Given the description of an element on the screen output the (x, y) to click on. 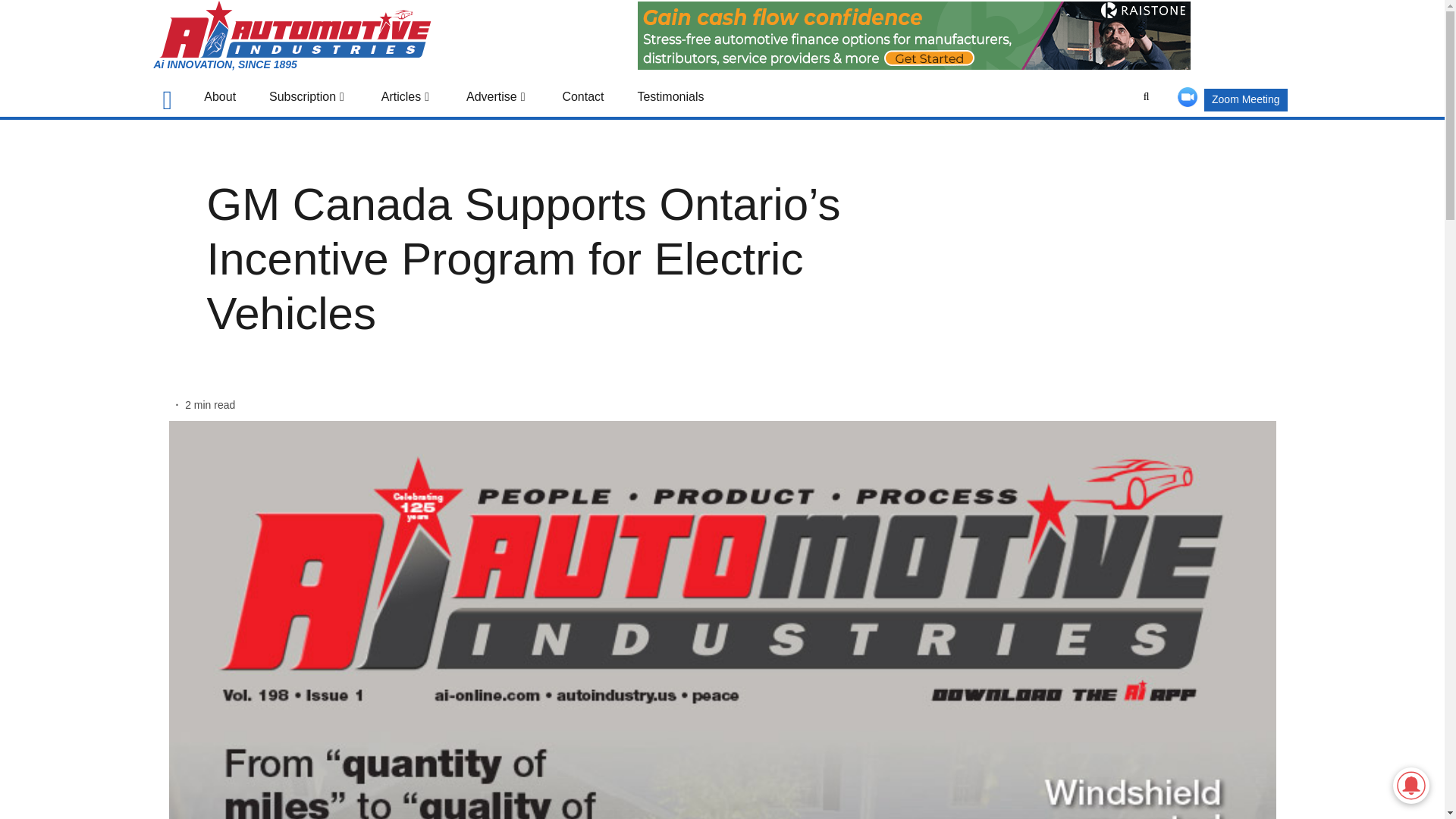
Subscription (308, 96)
About (219, 96)
Articles (406, 96)
